Given the description of an element on the screen output the (x, y) to click on. 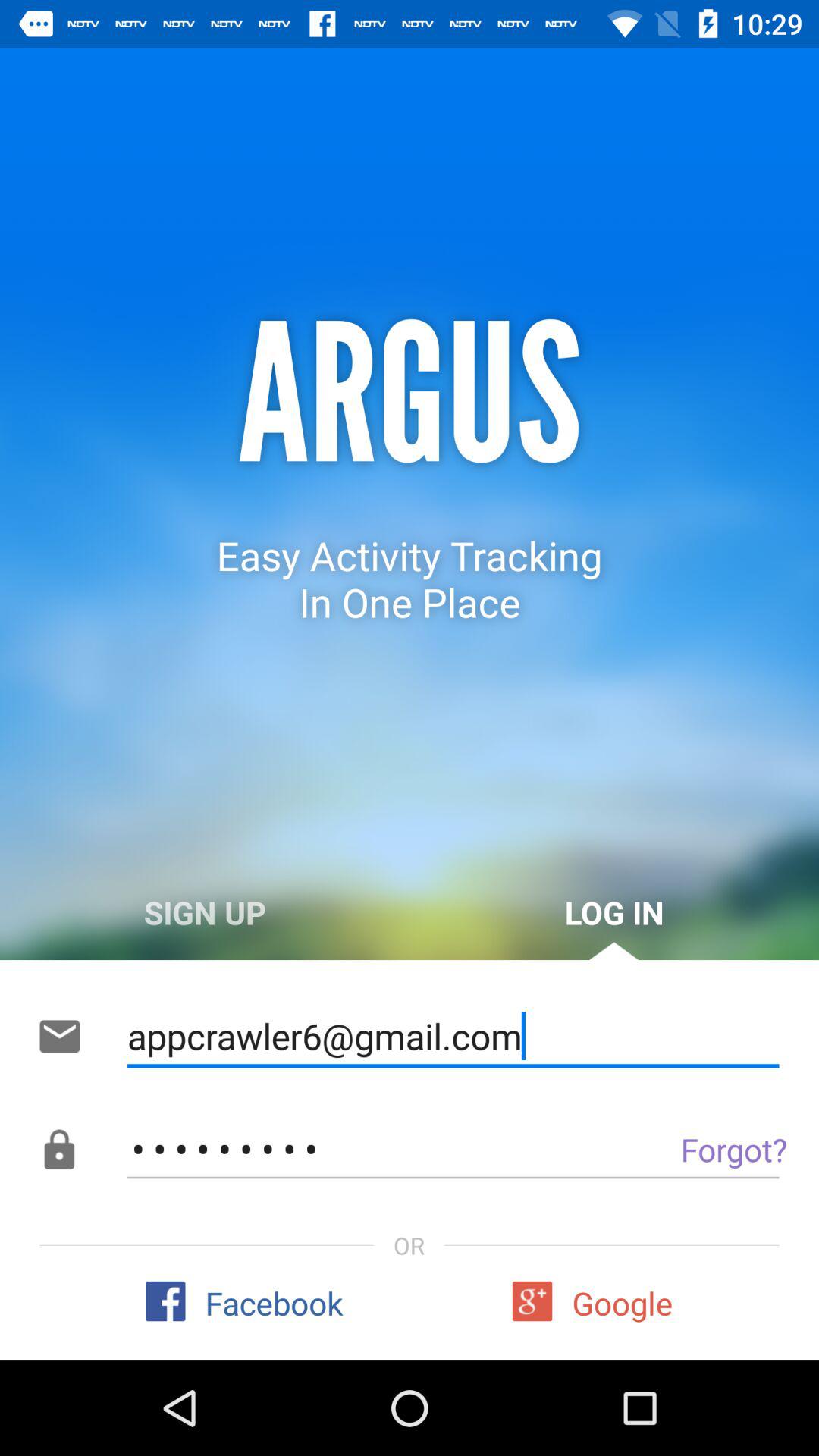
swipe to the appcrawler6@gmail.com icon (453, 1036)
